Given the description of an element on the screen output the (x, y) to click on. 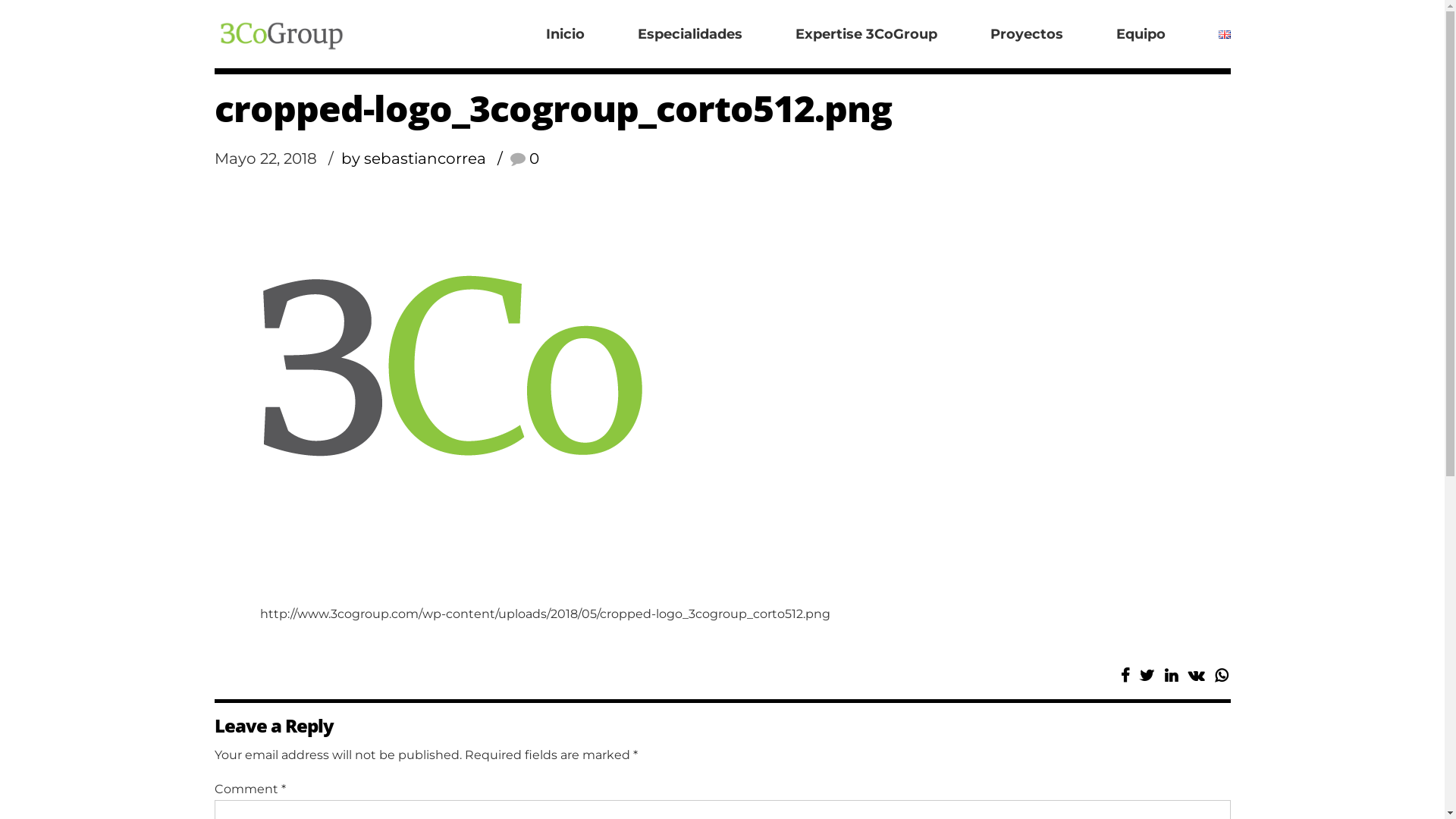
0 Element type: text (523, 158)
by sebastiancorrea Element type: text (425, 158)
Expertise 3CoGroup Element type: text (865, 34)
Proyectos Element type: text (1026, 34)
Inicio Element type: text (565, 34)
Especialidades Element type: text (689, 34)
Equipo Element type: text (1140, 34)
